Given the description of an element on the screen output the (x, y) to click on. 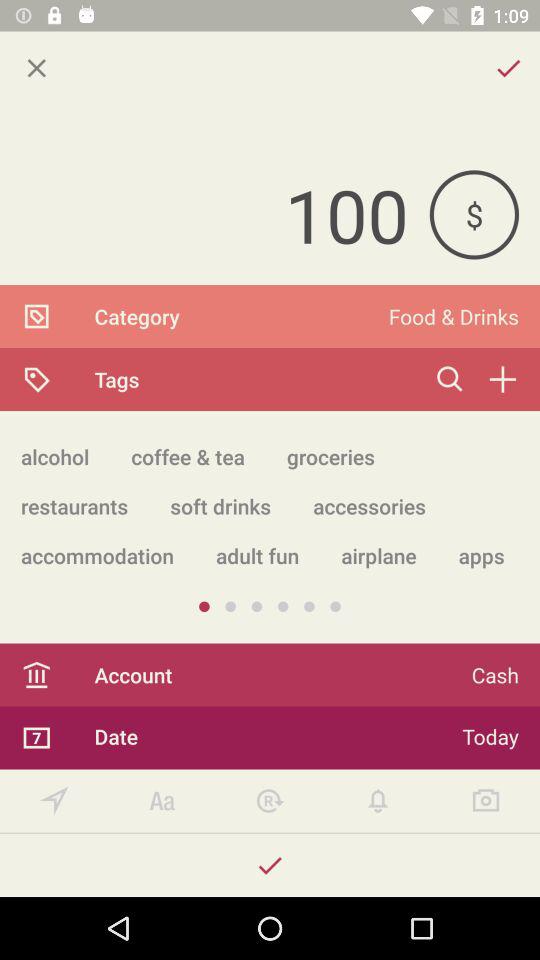
close app (36, 68)
